Given the description of an element on the screen output the (x, y) to click on. 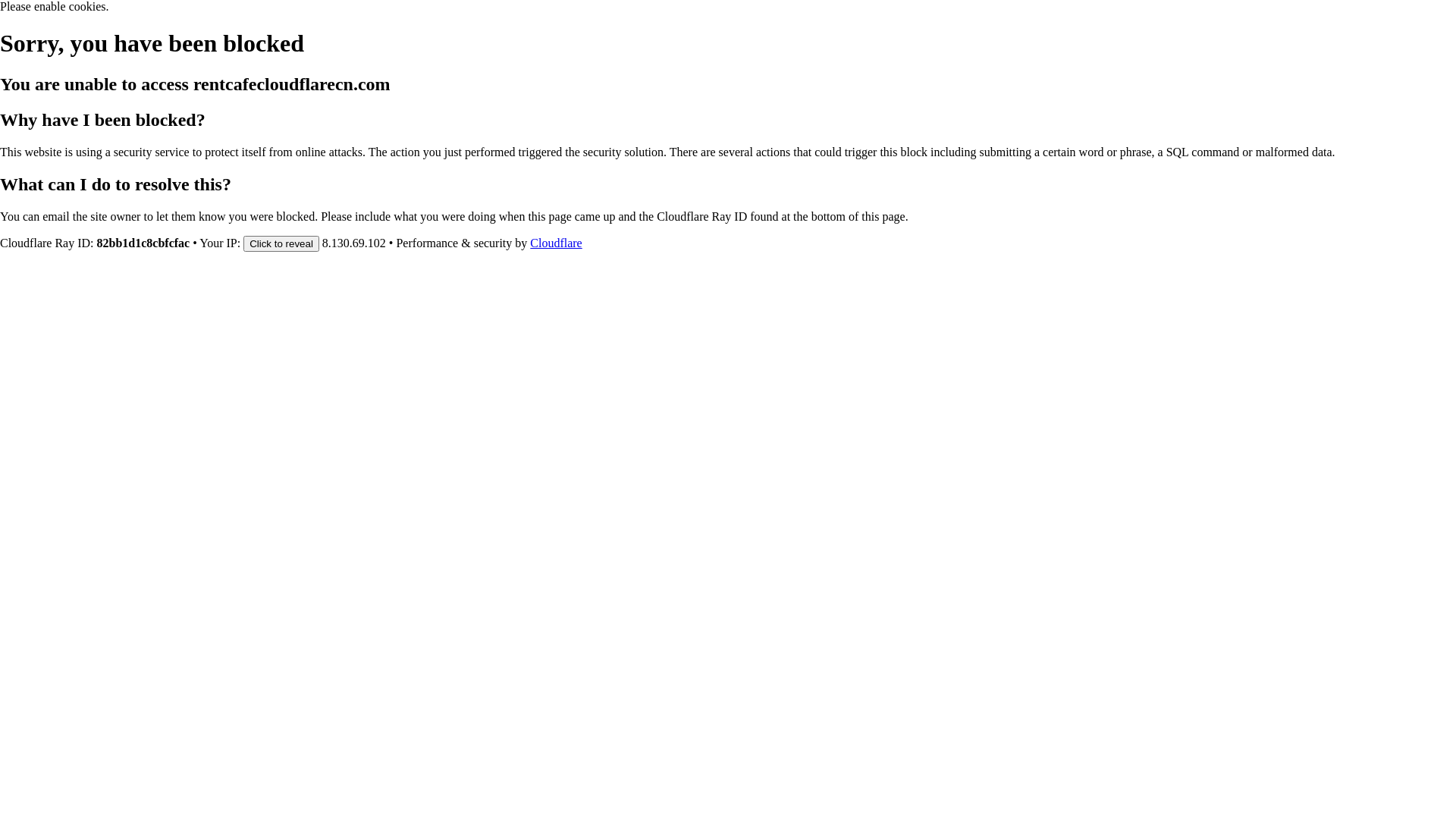
Click to reveal Element type: text (281, 243)
Cloudflare Element type: text (555, 242)
